Given the description of an element on the screen output the (x, y) to click on. 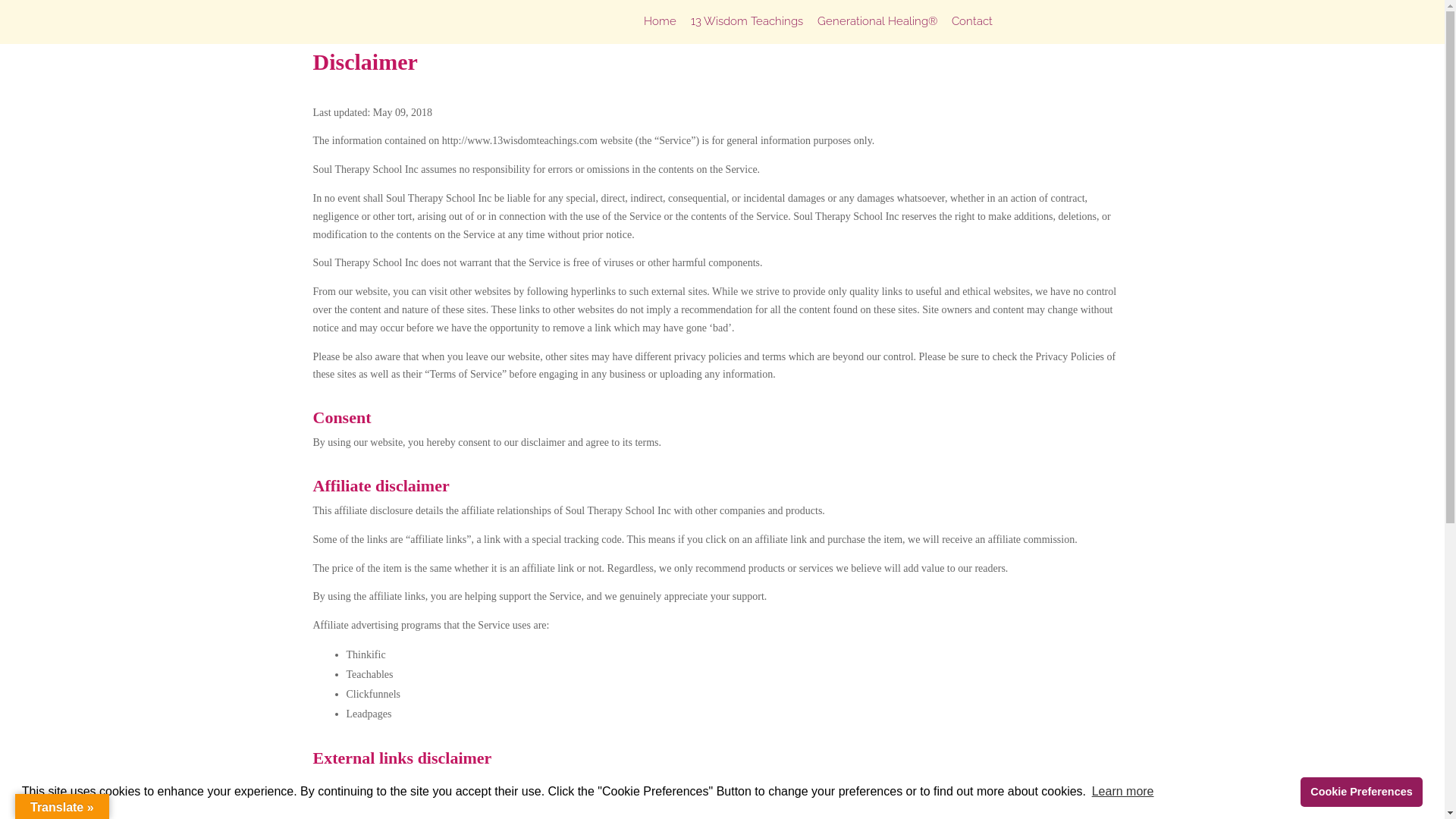
Home Element type: text (659, 25)
Contact Element type: text (970, 25)
13 Wisdom Teachings Element type: text (746, 25)
Learn more Element type: text (1121, 791)
Cookie Preferences Element type: text (1361, 791)
